Given the description of an element on the screen output the (x, y) to click on. 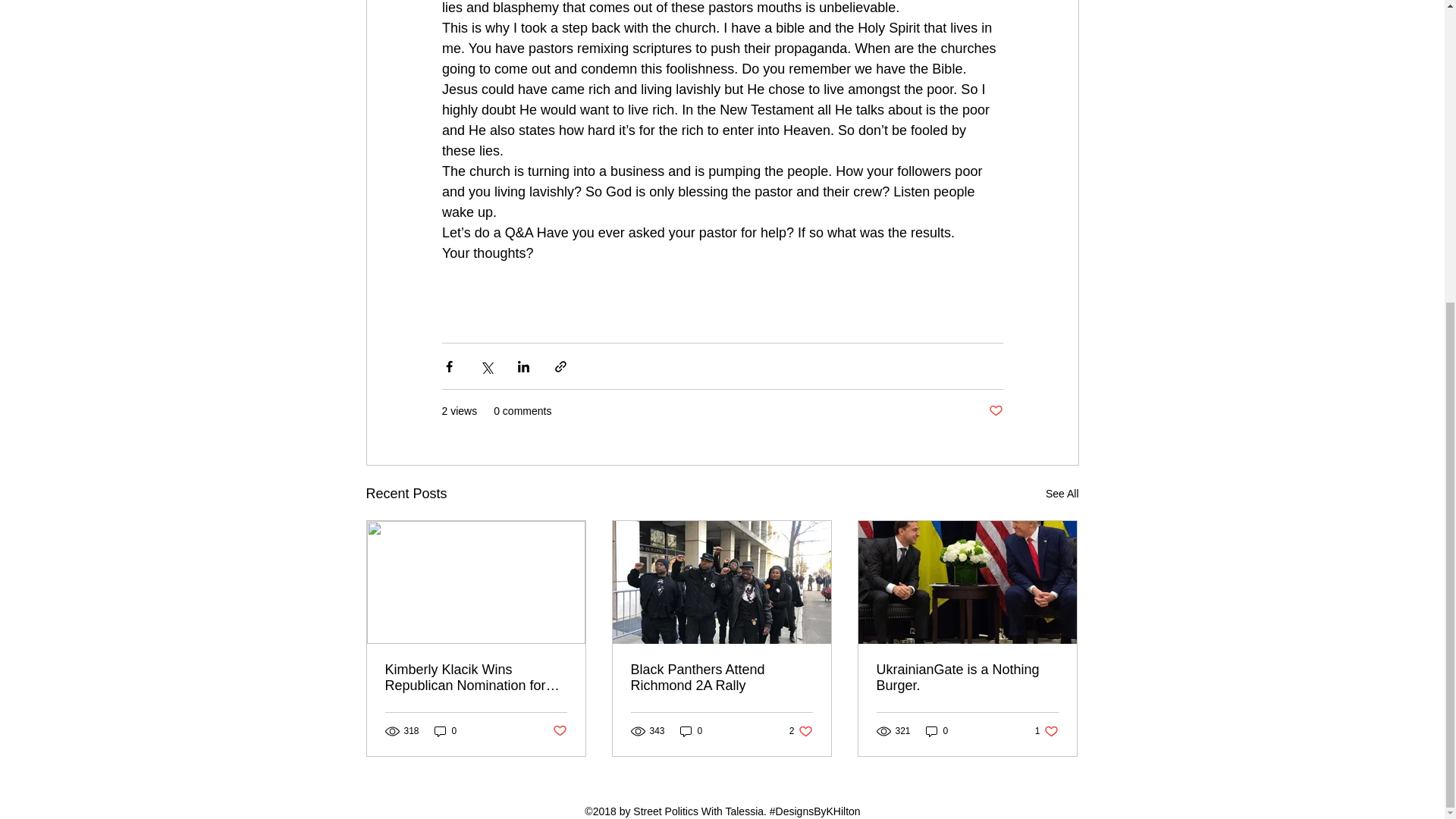
0 (800, 730)
Post not marked as liked (937, 730)
Post not marked as liked (995, 411)
Black Panthers Attend Richmond 2A Rally (558, 730)
See All (721, 677)
Kimberly Klacik Wins Republican Nomination for MD-7 (1061, 494)
0 (1046, 730)
UkrainianGate is a Nothing Burger.  (476, 677)
